Given the description of an element on the screen output the (x, y) to click on. 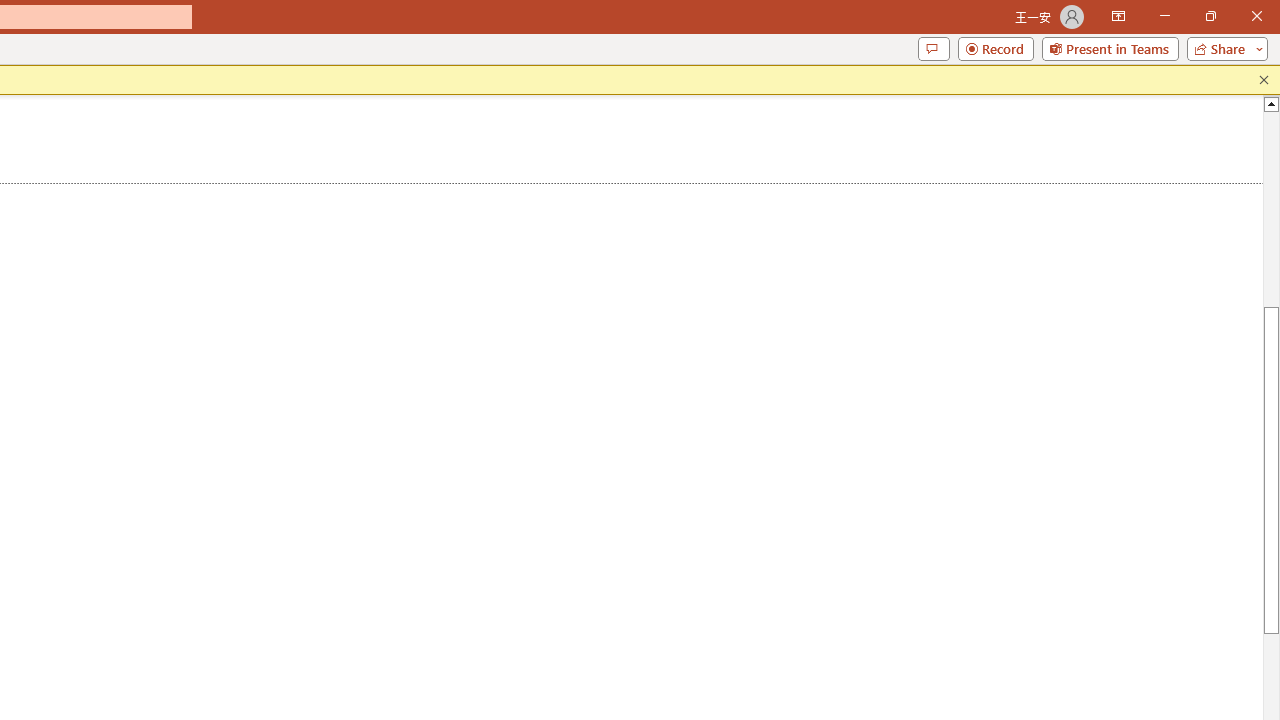
Present in Teams (1109, 48)
Restore Down (1210, 16)
Close this message (1263, 80)
Minimize (1164, 16)
Share (1223, 48)
Close (1256, 16)
Ribbon Display Options (1118, 16)
Comments (933, 48)
